Given the description of an element on the screen output the (x, y) to click on. 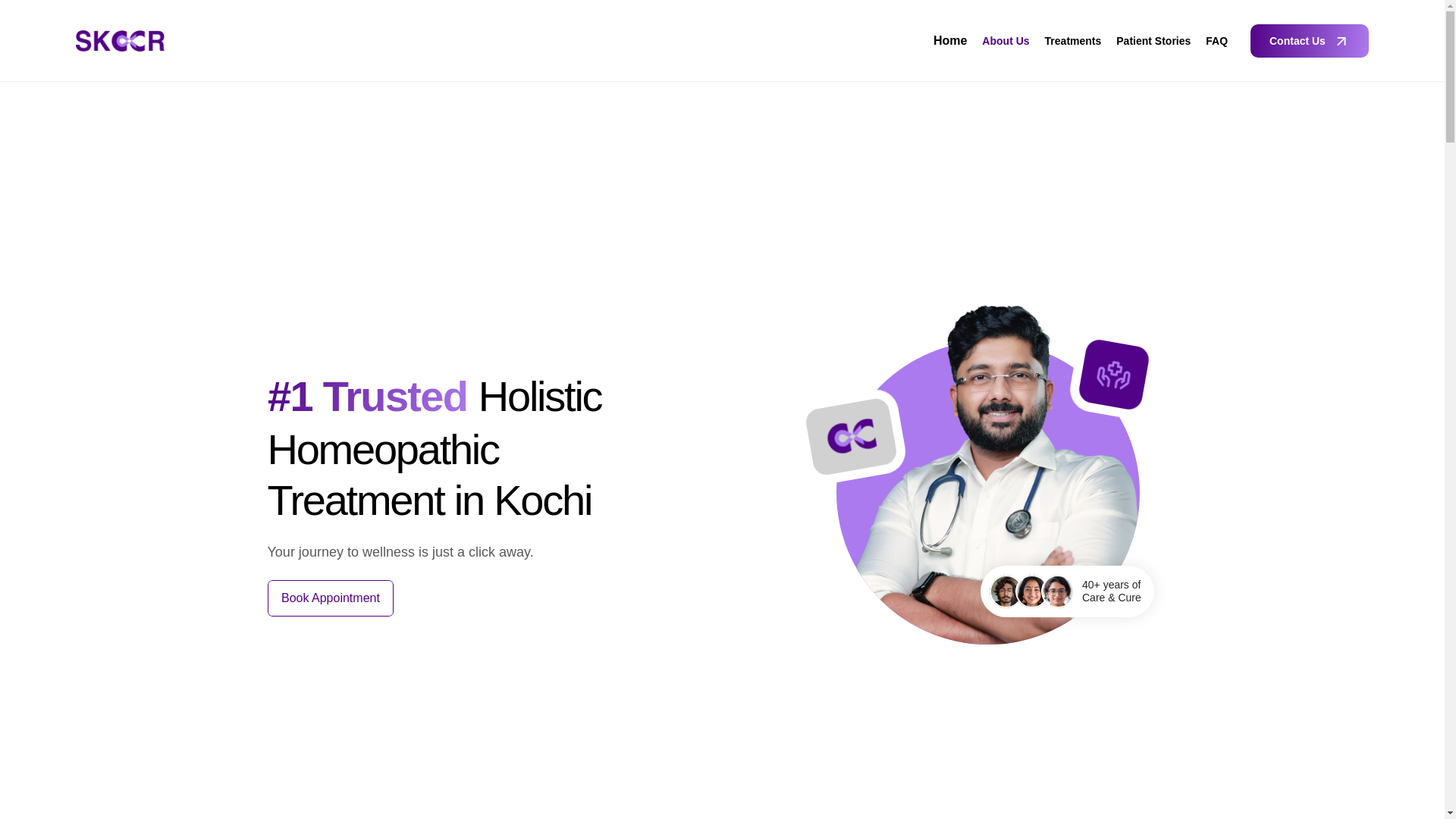
Home (949, 40)
Patient Stories (1153, 40)
FAQ (1216, 40)
Book Appointment (329, 597)
About Us (1005, 40)
Treatments (1073, 40)
Contact Us (1309, 40)
